Given the description of an element on the screen output the (x, y) to click on. 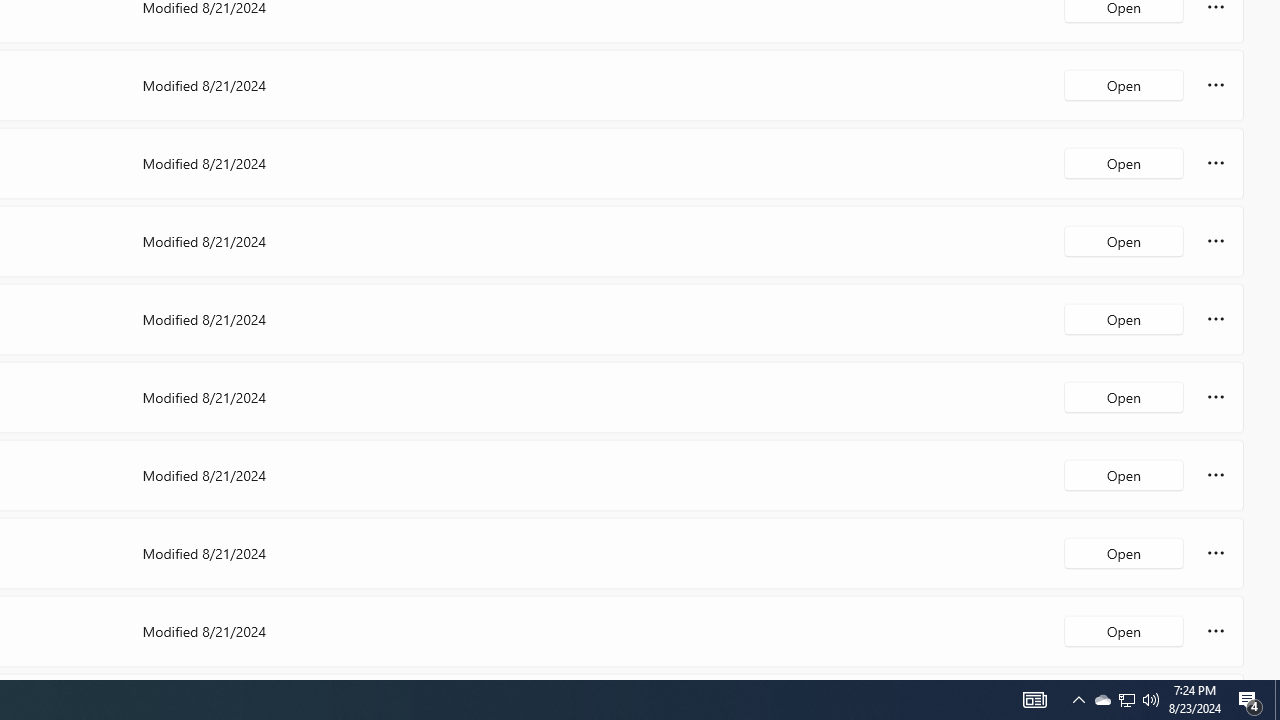
Open (1123, 630)
More options (1215, 630)
